Given the description of an element on the screen output the (x, y) to click on. 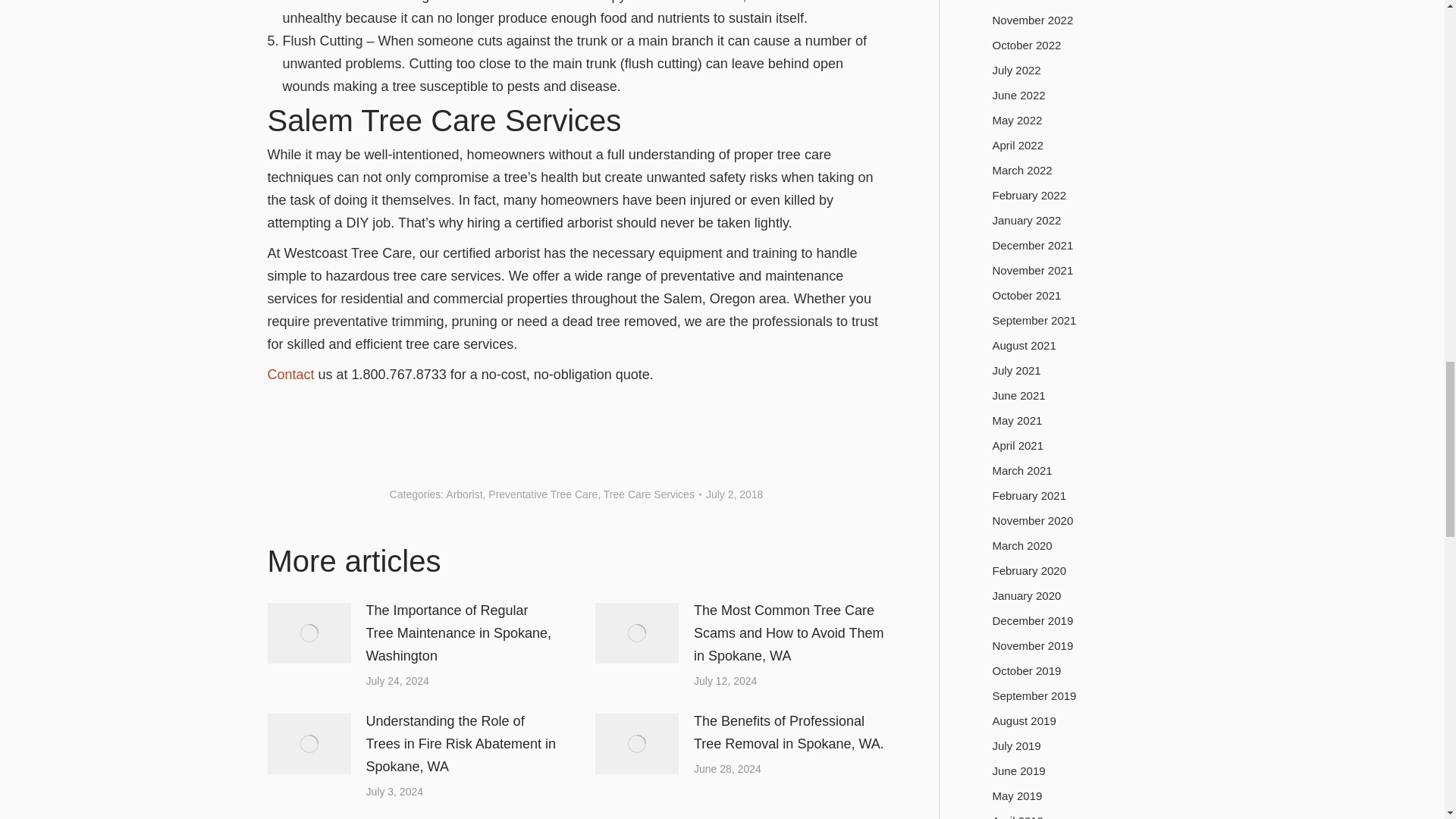
5:33 pm (734, 494)
Arborist (463, 494)
Tree Care Services (649, 494)
July 2, 2018 (734, 494)
Preventative Tree Care (541, 494)
Contact (291, 374)
